Given the description of an element on the screen output the (x, y) to click on. 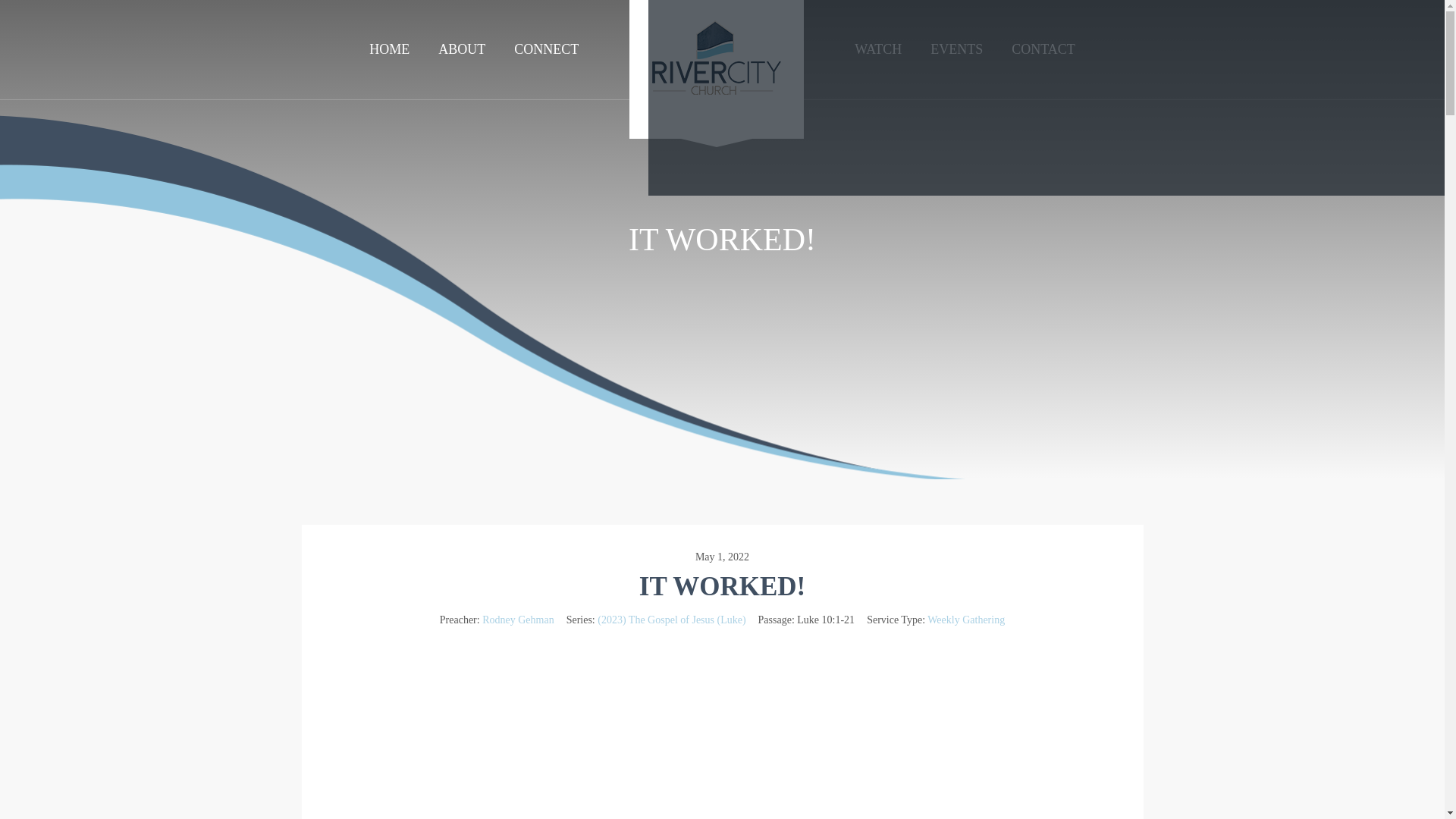
LOGO (715, 73)
CONNECT (545, 49)
Weekly Gathering (965, 619)
Share via Instagram (1046, 97)
Share via Facebook (784, 97)
Rodney Gehman (517, 619)
CONTACT (1043, 49)
Share via Twitter (1307, 97)
